Given the description of an element on the screen output the (x, y) to click on. 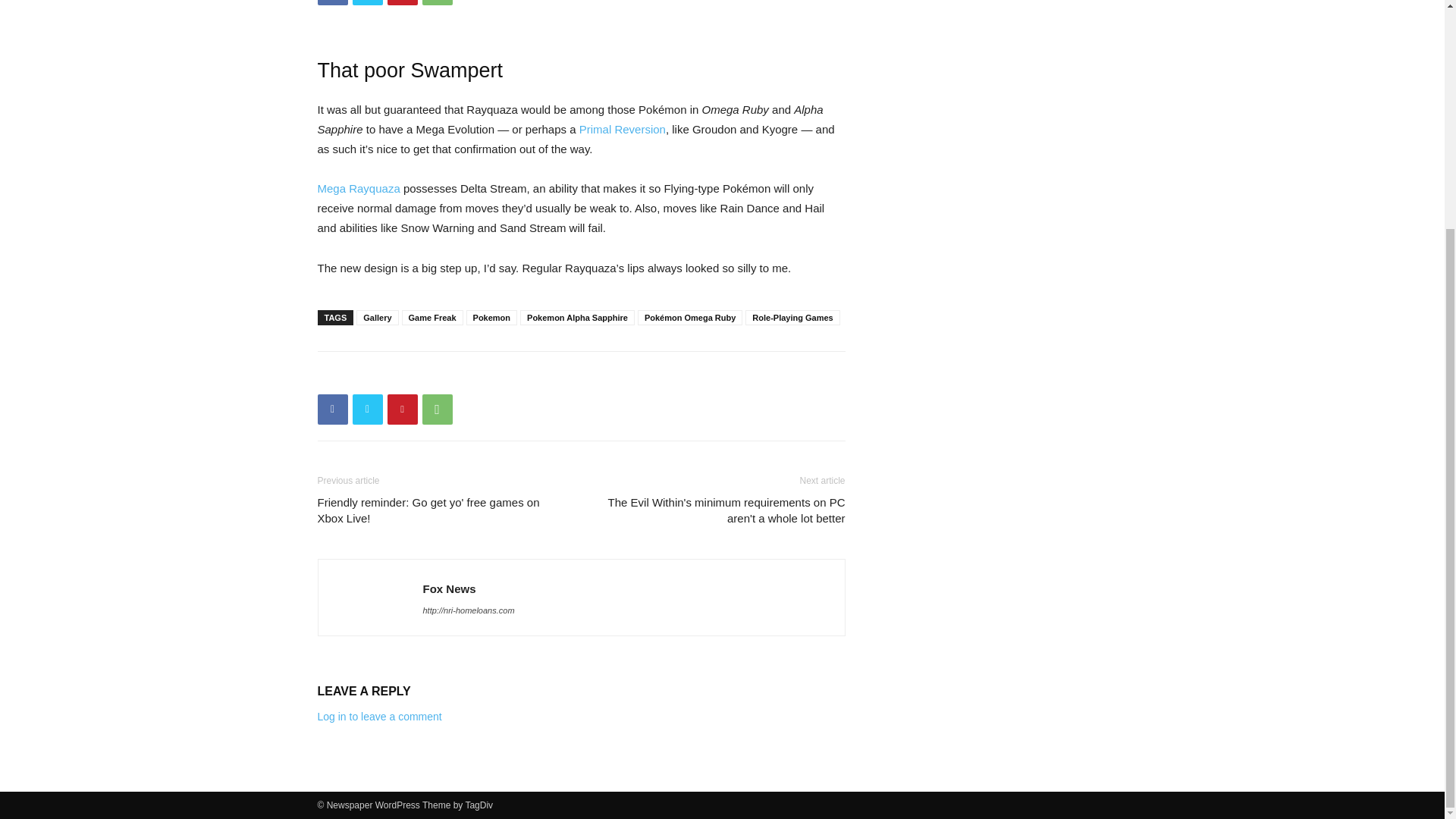
WhatsApp (436, 2)
WhatsApp (436, 409)
Pokemon (491, 317)
Pokemon Alpha Sapphire (576, 317)
Mega Rayquaza (357, 187)
Role-Playing Games (792, 317)
Facebook (332, 2)
Primal Reversion (622, 128)
Gallery (376, 317)
bottomFacebookLike (430, 375)
Twitter (366, 409)
Friendly reminder: Go get yo' free games on Xbox Live! (439, 510)
Facebook (332, 409)
Pinterest (401, 2)
